Given the description of an element on the screen output the (x, y) to click on. 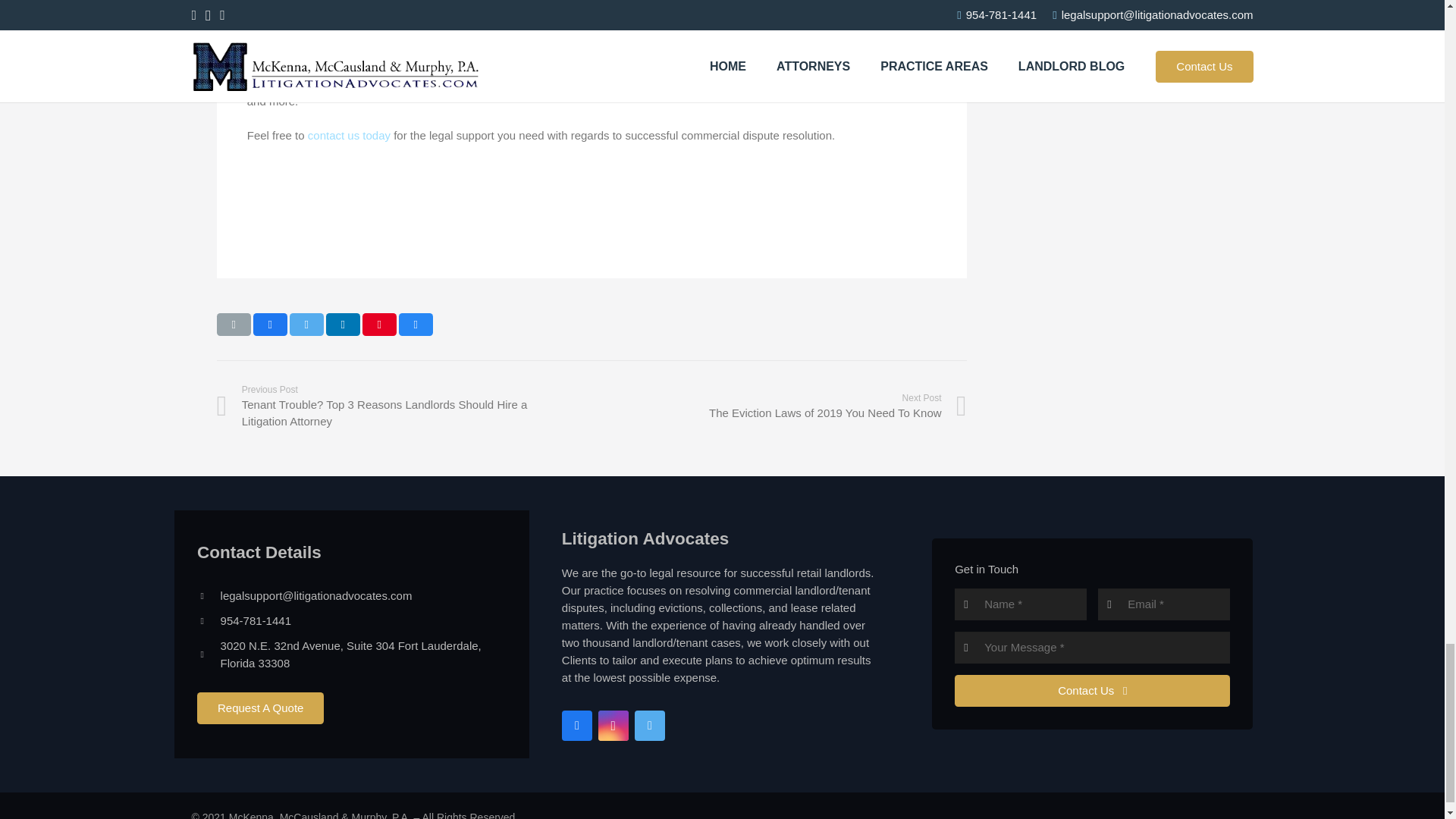
Facebook (577, 725)
Share this (415, 323)
Share this (342, 323)
Pin this (379, 323)
The Eviction Laws of 2019 You Need To Know (778, 406)
Share this (269, 323)
enforce a lease (715, 31)
Tweet this (306, 323)
Email this (233, 323)
